Given the description of an element on the screen output the (x, y) to click on. 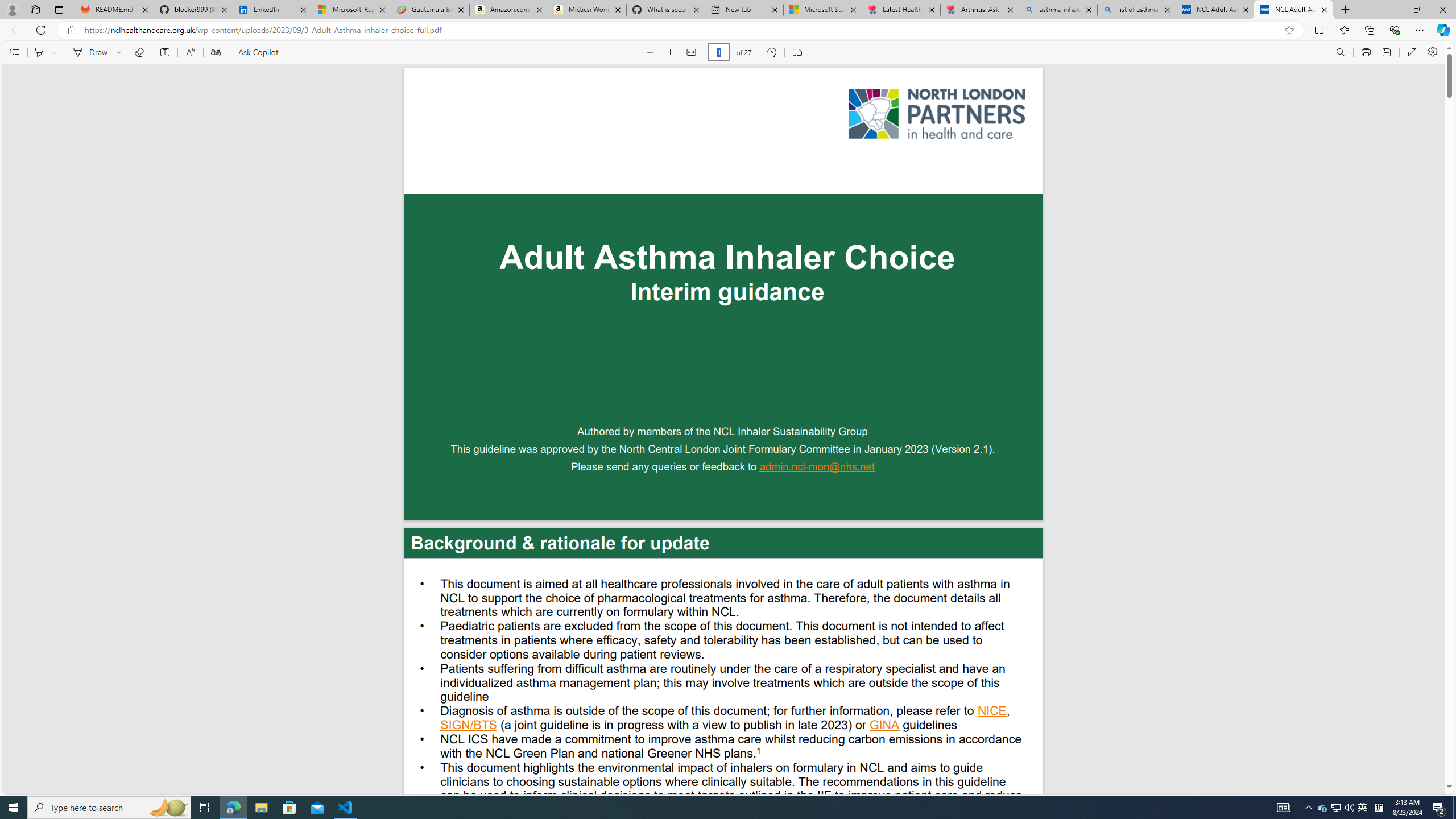
Find (Ctrl + F) (1340, 52)
GINA  (884, 726)
